Given the description of an element on the screen output the (x, y) to click on. 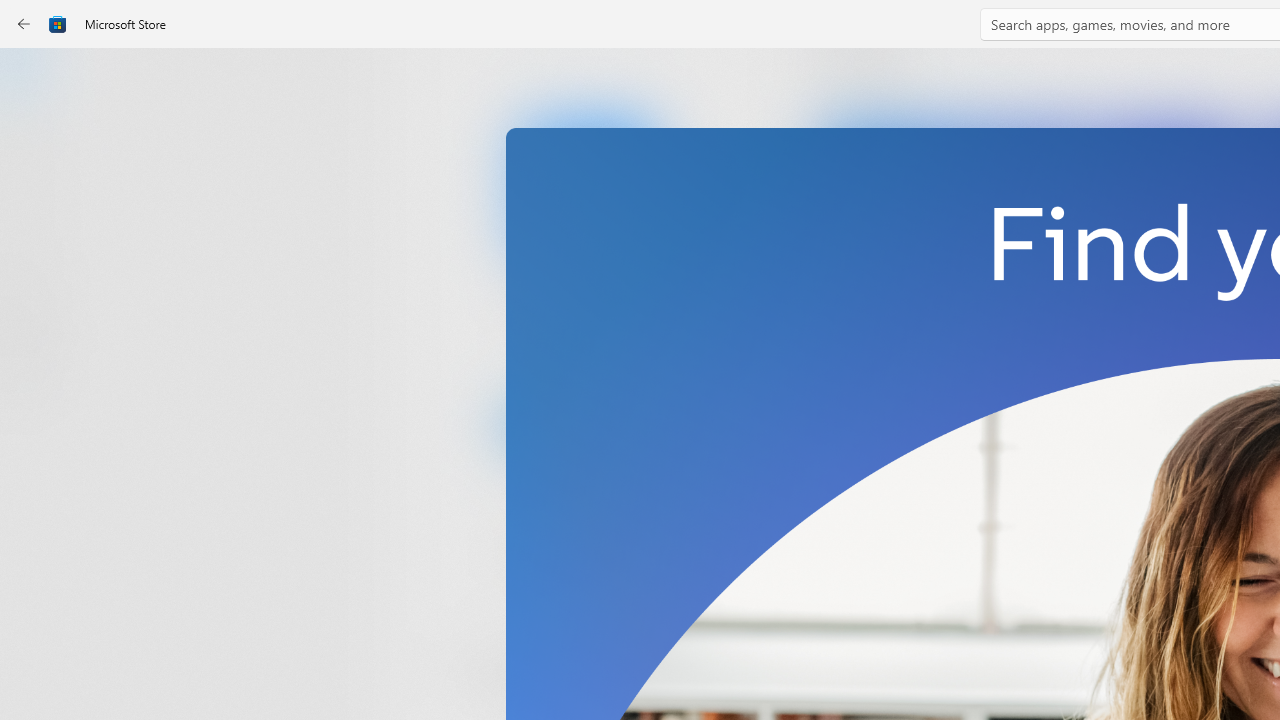
AI Hub (35, 390)
Apps (35, 141)
Class: Image (58, 24)
Arcade (35, 265)
Home (35, 79)
Get (586, 424)
LinkedIn (585, 333)
3.9 stars. Click to skip to ratings and reviews (542, 556)
Gaming (35, 203)
Screenshot 1 (1029, 279)
Back (24, 24)
Entertainment (35, 327)
